Given the description of an element on the screen output the (x, y) to click on. 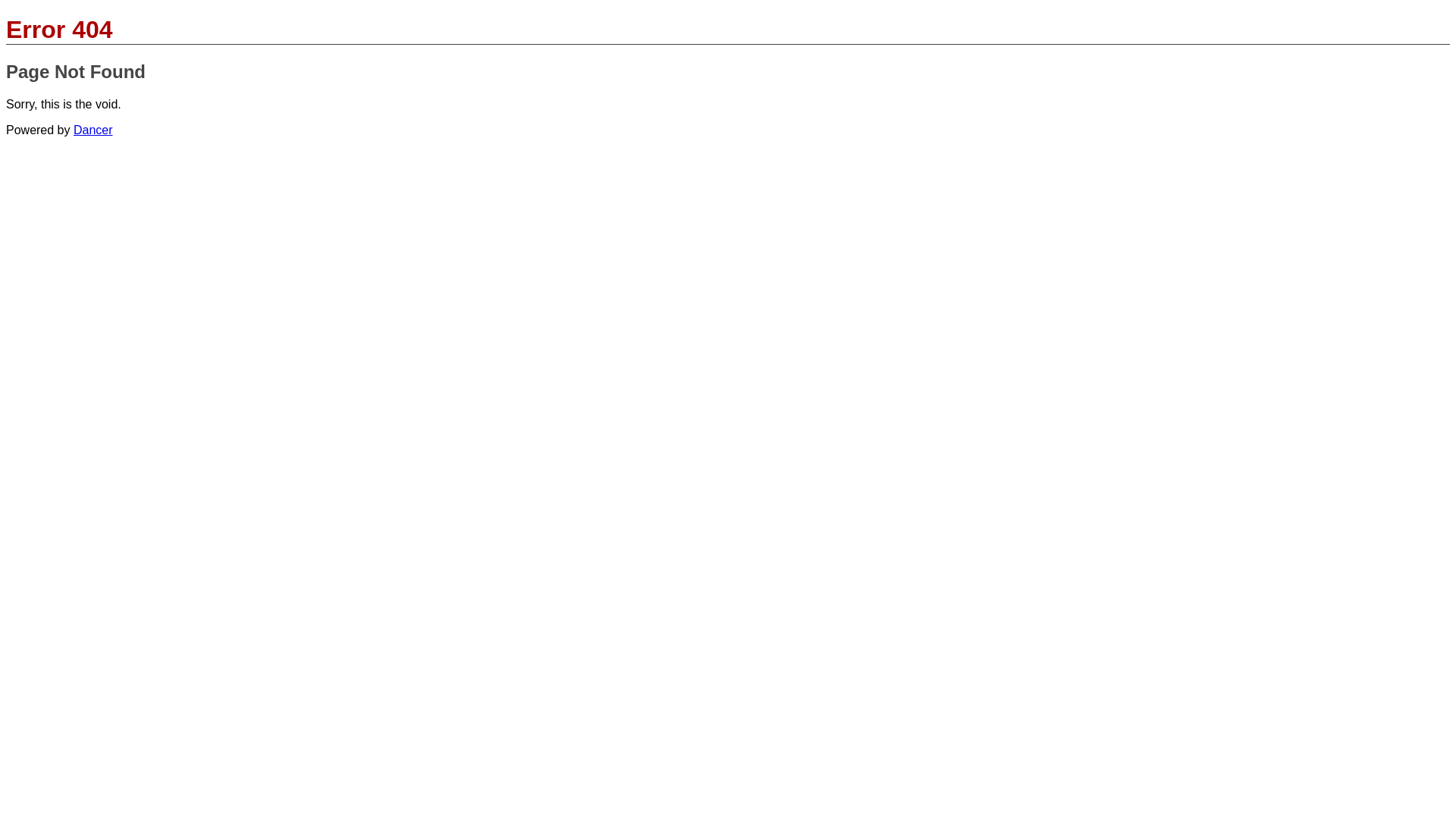
Dancer Element type: text (92, 129)
